Given the description of an element on the screen output the (x, y) to click on. 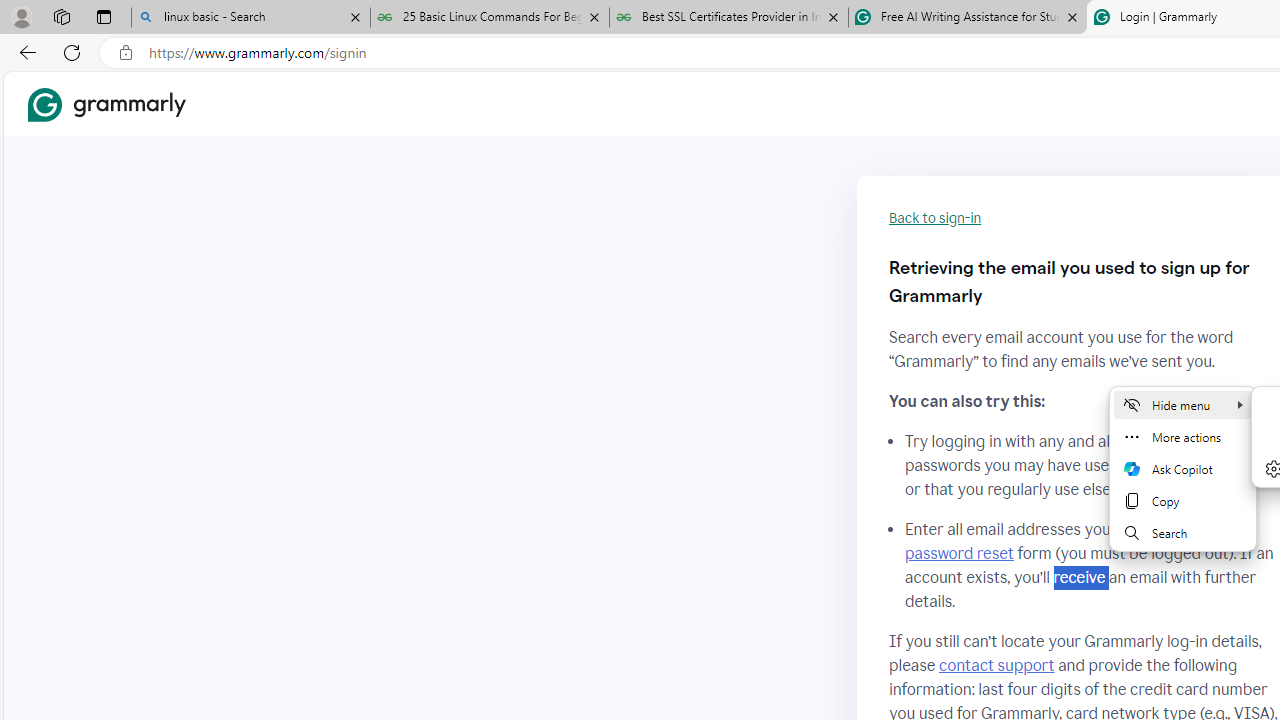
25 Basic Linux Commands For Beginners - GeeksforGeeks (490, 17)
Back to sign-in (935, 218)
linux basic - Search (250, 17)
Hide menu (1182, 404)
